Given the description of an element on the screen output the (x, y) to click on. 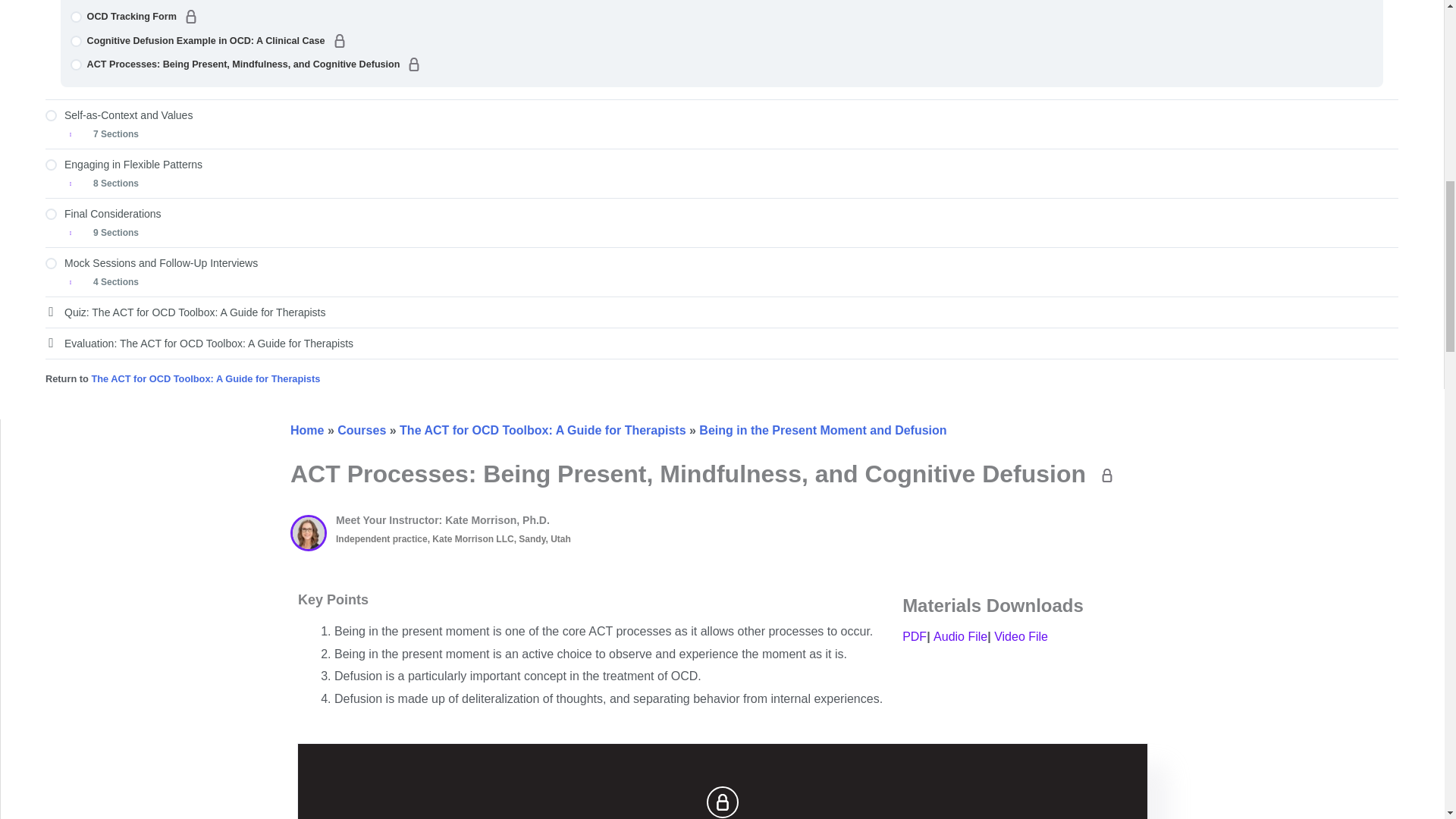
Being in the Present Moment and Defusion (822, 430)
Home (306, 430)
Courses (361, 430)
The ACT for OCD Toolbox: A Guide for Therapists (541, 430)
Kate-Morrison (307, 533)
